Given the description of an element on the screen output the (x, y) to click on. 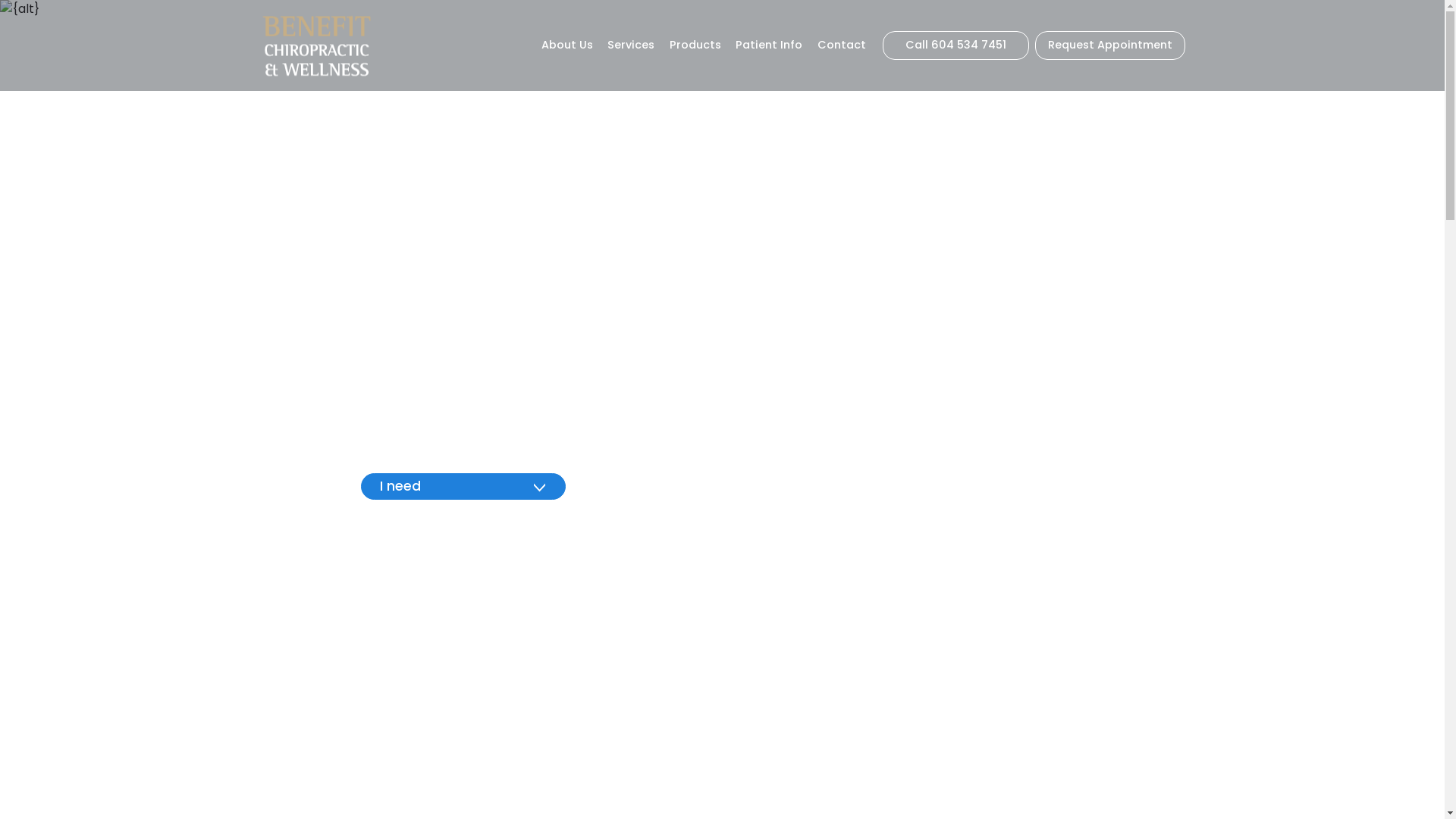
Contact Element type: text (841, 44)
Products Element type: text (695, 44)
Patient Info Element type: text (768, 44)
Services Element type: text (631, 44)
Benefit Chiropractic - Home Element type: hover (316, 45)
About Us Element type: text (566, 44)
Request Appointment Element type: text (1109, 45)
Call 604 534 7451 Element type: text (955, 45)
